Given the description of an element on the screen output the (x, y) to click on. 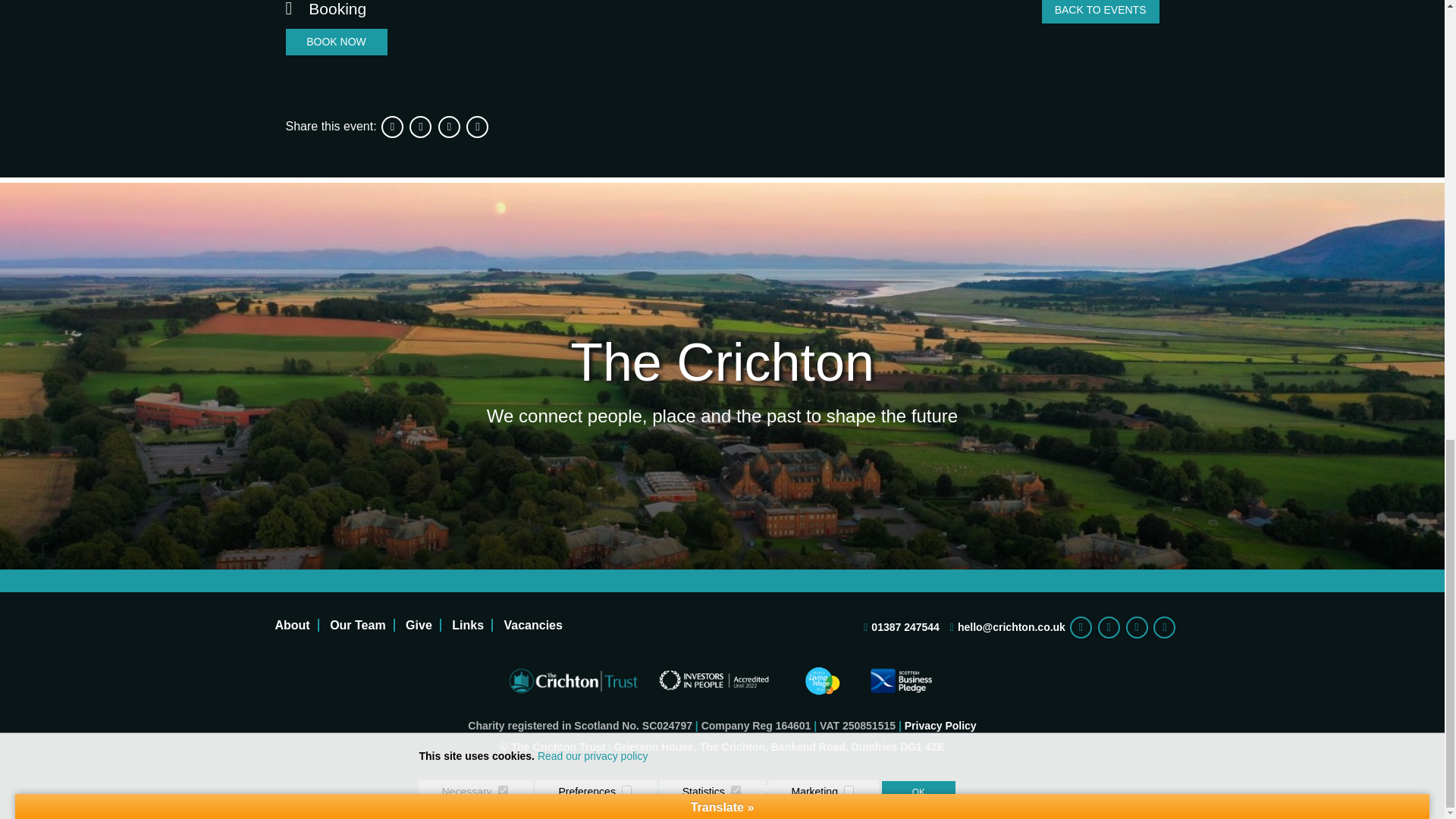
The Crichton Trust (573, 680)
Creatomatic (838, 787)
Scottish Business Pledge (900, 679)
Investers in people logo (713, 679)
Living Wage Logo (823, 679)
